Given the description of an element on the screen output the (x, y) to click on. 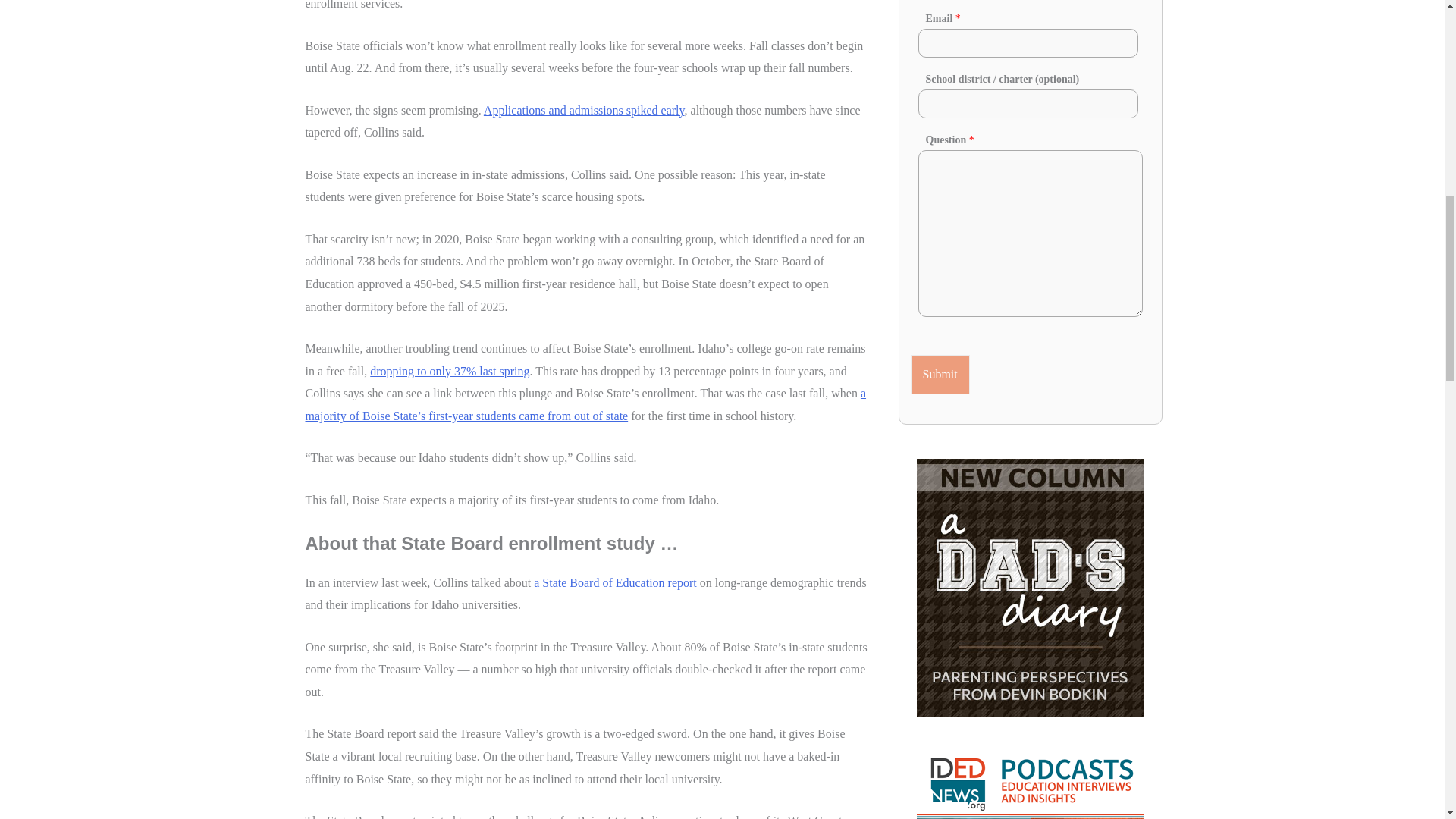
Submit (939, 373)
a State Board of Education report (615, 582)
Applications and admissions spiked early (583, 110)
